Given the description of an element on the screen output the (x, y) to click on. 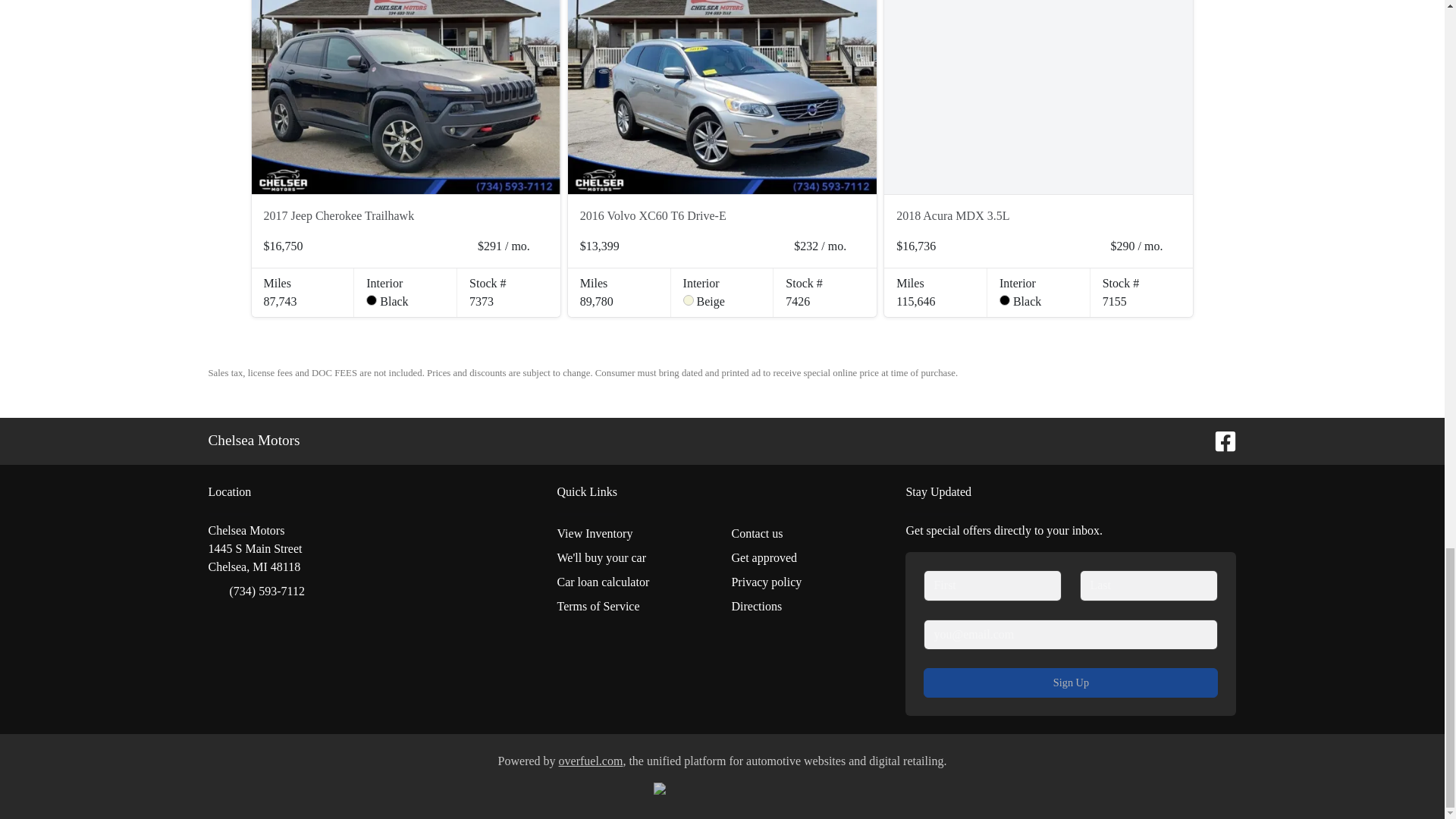
Get approved (808, 558)
Contact us (808, 533)
Directions (808, 606)
Car loan calculator (634, 582)
We'll buy your car (634, 558)
View Inventory (634, 533)
Privacy policy (808, 582)
2017 Jeep Cherokee Trailhawk (405, 97)
Sign Up (254, 548)
